Given the description of an element on the screen output the (x, y) to click on. 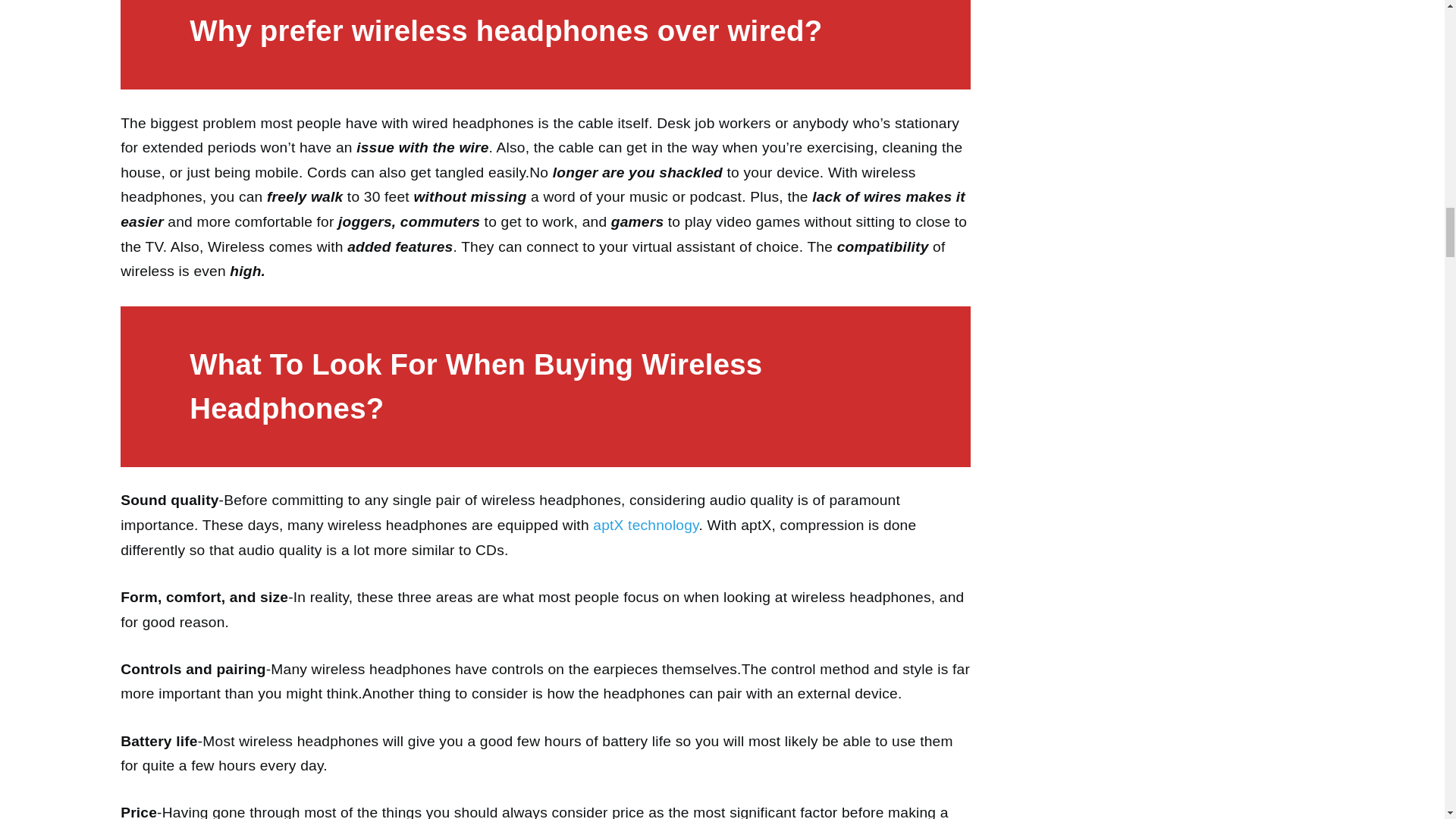
aptX technology (645, 524)
